Given the description of an element on the screen output the (x, y) to click on. 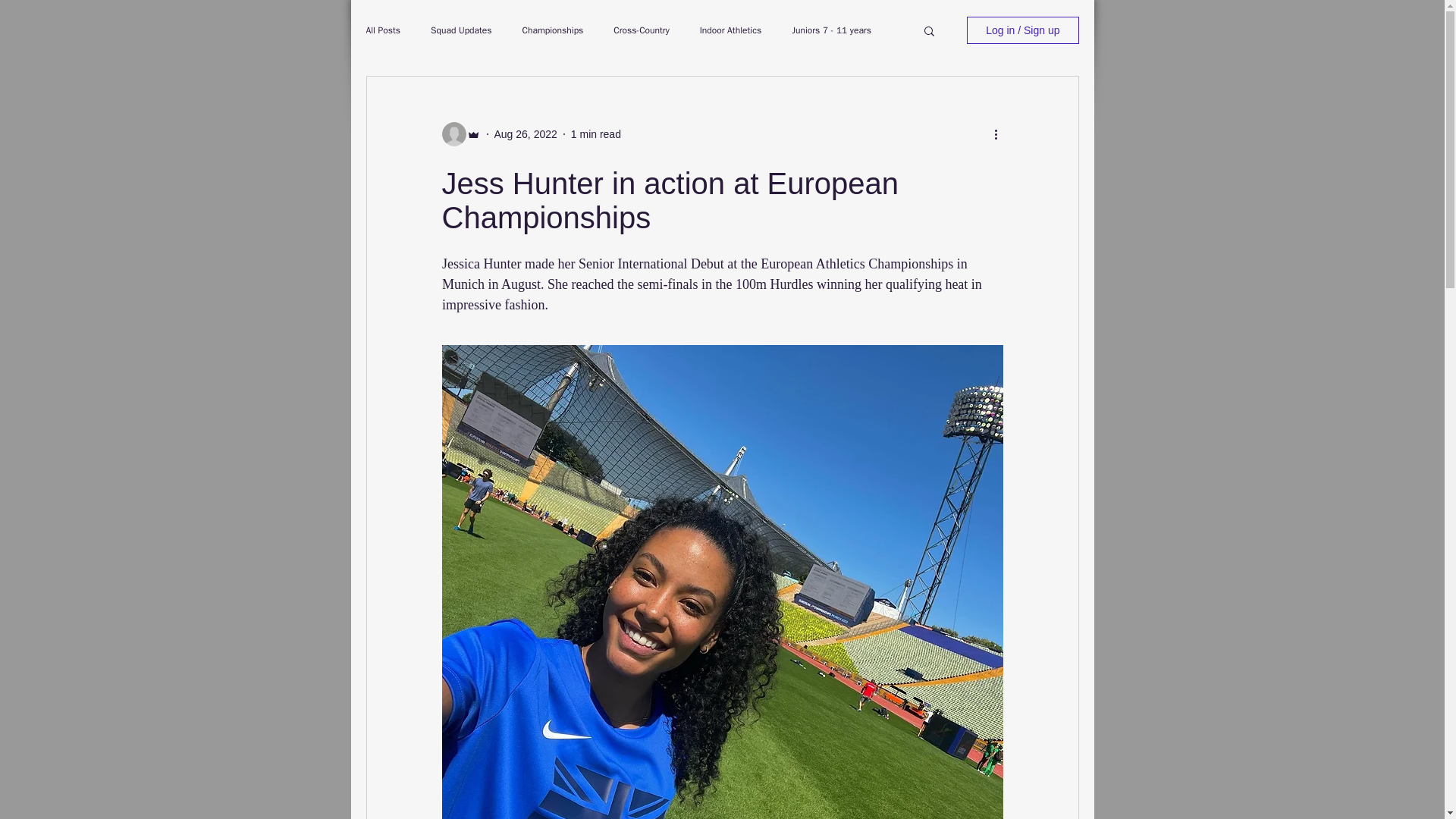
Indoor Athletics (730, 30)
Aug 26, 2022 (526, 133)
Championships (552, 30)
Juniors 7 - 11 years (831, 30)
Squad Updates (461, 30)
Cross-Country (640, 30)
All Posts (382, 30)
1 min read (595, 133)
